Given the description of an element on the screen output the (x, y) to click on. 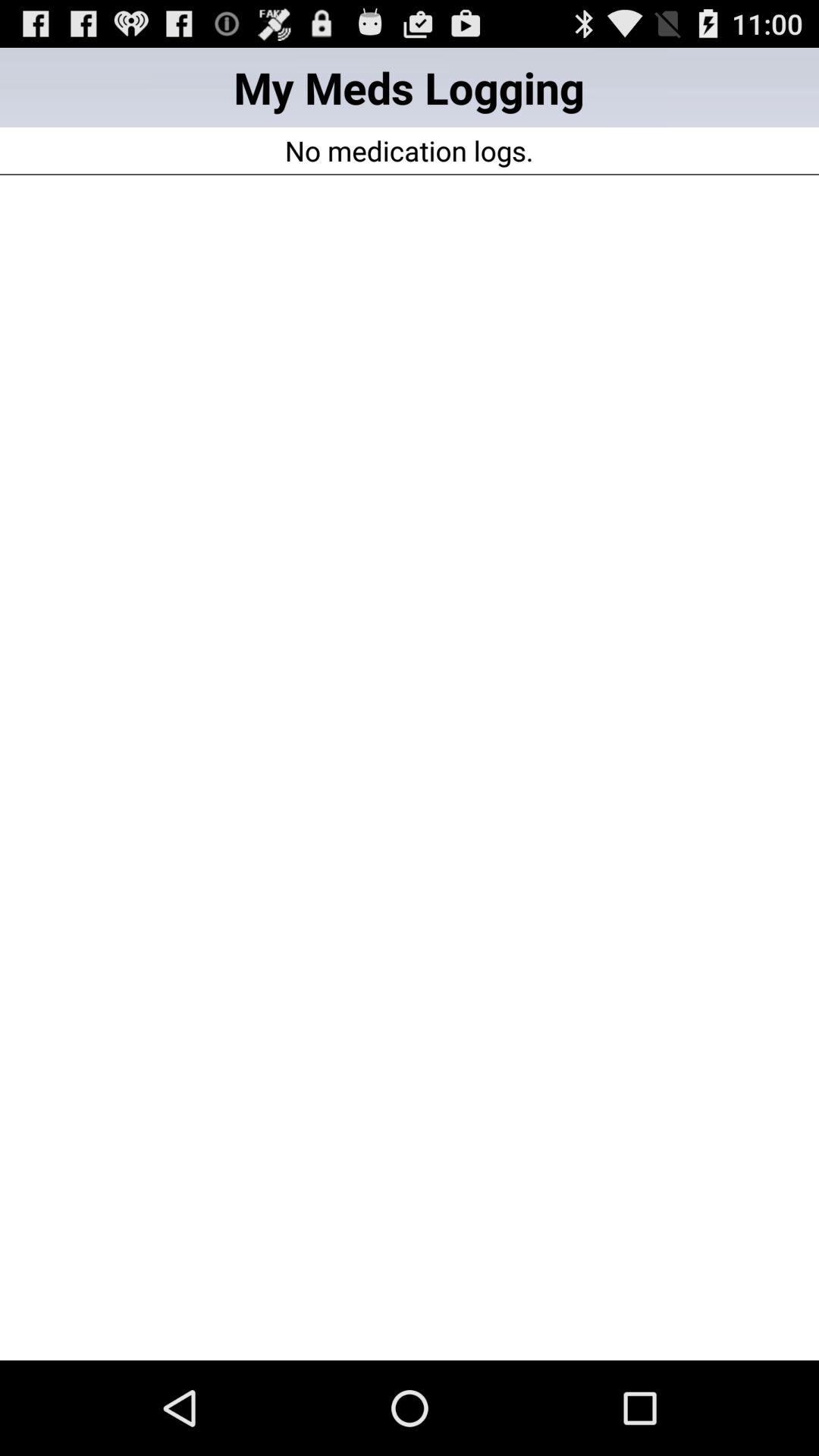
turn off the no medication logs. app (409, 150)
